Given the description of an element on the screen output the (x, y) to click on. 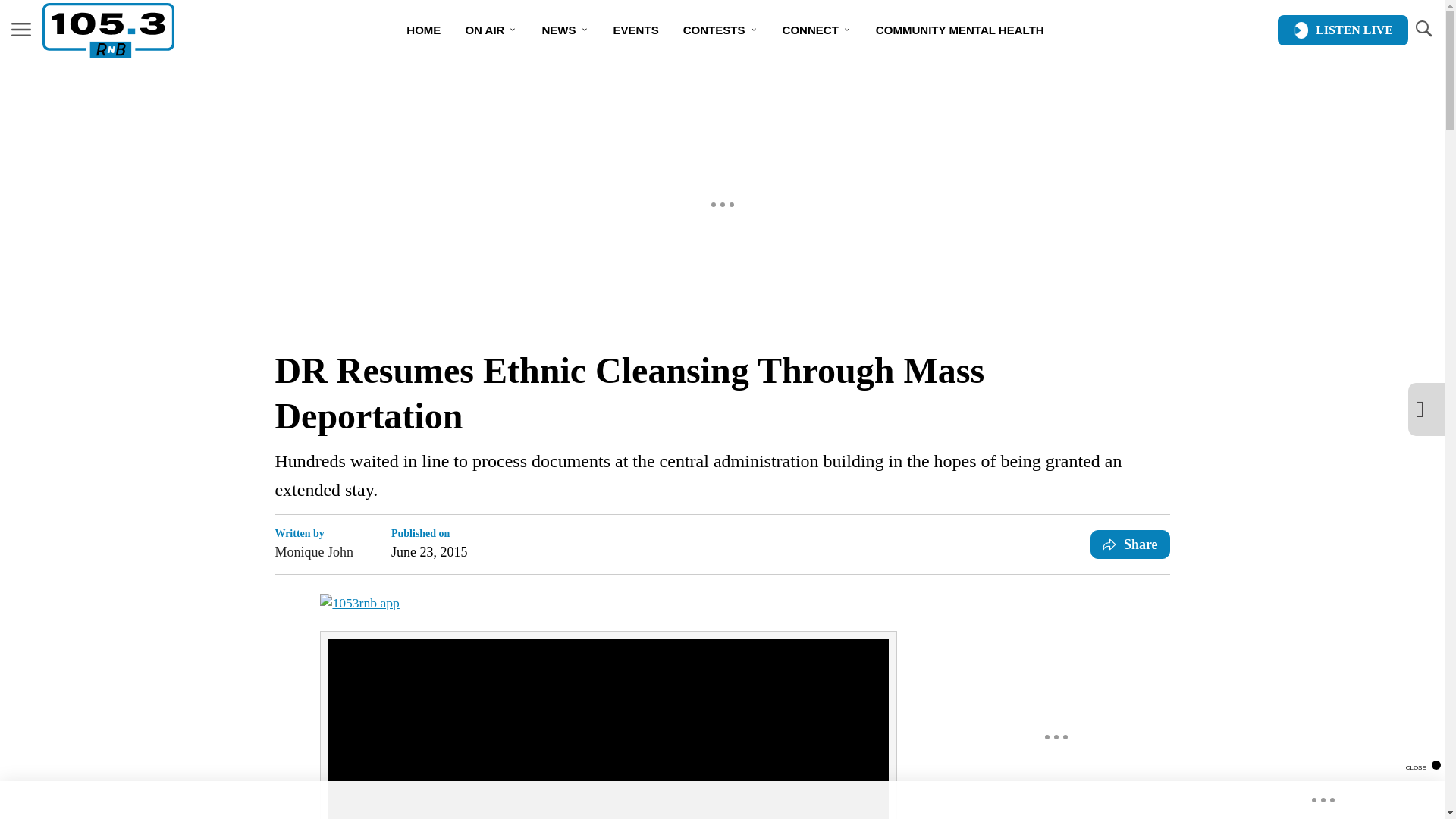
Monique John (314, 551)
CONTESTS (720, 30)
TOGGLE SEARCH (1422, 30)
NEWS (564, 30)
CONNECT (816, 30)
Share (1130, 543)
MENU (20, 29)
MENU (20, 30)
LISTEN LIVE (1342, 30)
HOME (423, 30)
